Given the description of an element on the screen output the (x, y) to click on. 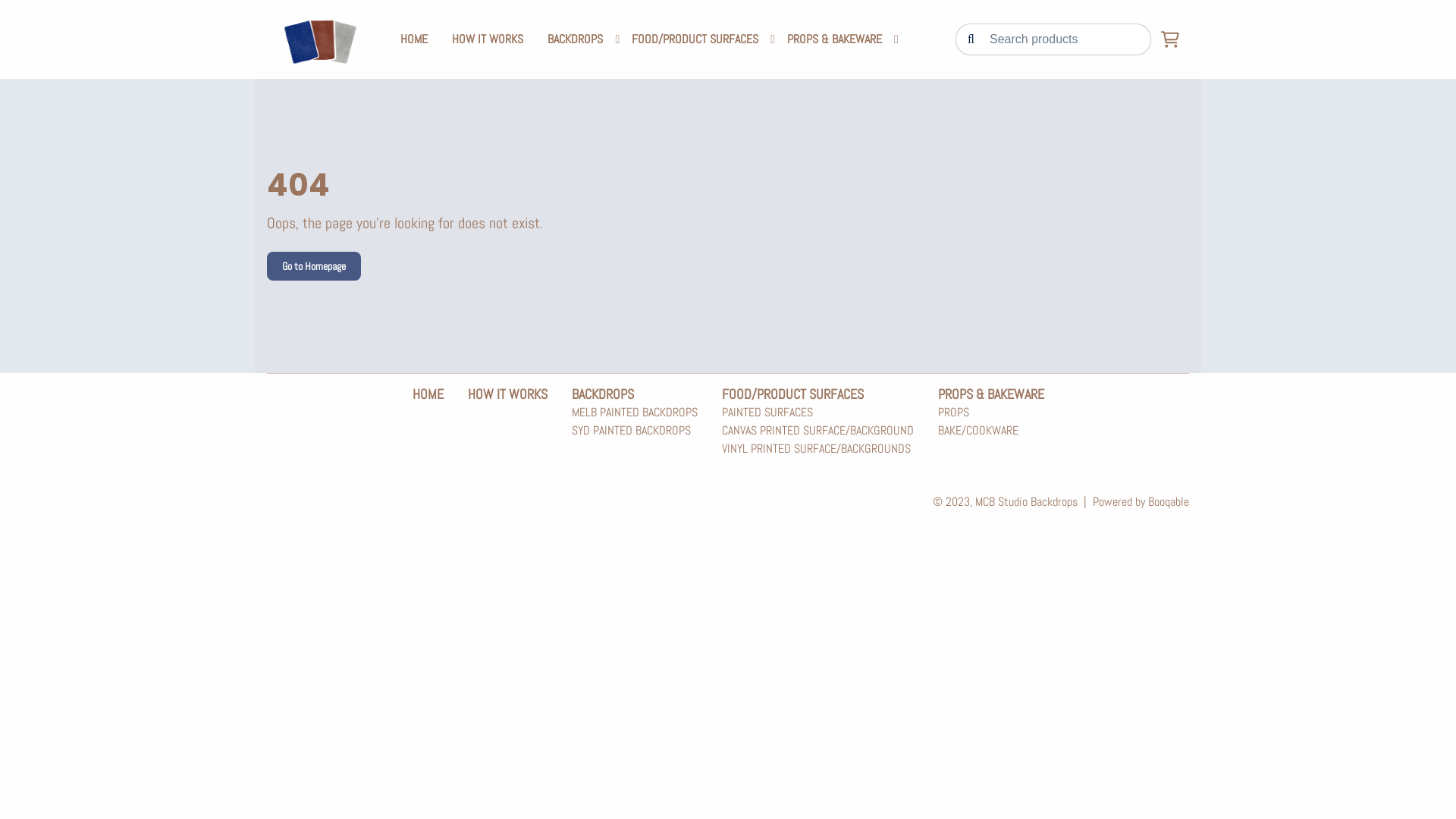
BACKDROPS Element type: text (602, 394)
HOW IT WORKS Element type: text (506, 394)
PROPS Element type: text (977, 412)
FOOD/PRODUCT SURFACES Element type: text (694, 39)
MELB PAINTED BACKDROPS Element type: text (634, 412)
BAKE/COOKWARE Element type: text (977, 430)
CANVAS PRINTED SURFACE/BACKGROUND Element type: text (817, 430)
Go to Homepage Element type: text (313, 265)
HOME Element type: text (413, 39)
BACKDROPS Element type: text (575, 39)
HOME Element type: text (427, 394)
PROPS & BAKEWARE Element type: text (990, 394)
FOOD/PRODUCT SURFACES Element type: text (792, 394)
Powered by Booqable Element type: text (1140, 501)
HOW IT WORKS Element type: text (487, 39)
VINYL PRINTED SURFACE/BACKGROUNDS Element type: text (817, 448)
PAINTED SURFACES Element type: text (817, 412)
SYD PAINTED BACKDROPS Element type: text (634, 430)
PROPS & BAKEWARE Element type: text (834, 39)
